Given the description of an element on the screen output the (x, y) to click on. 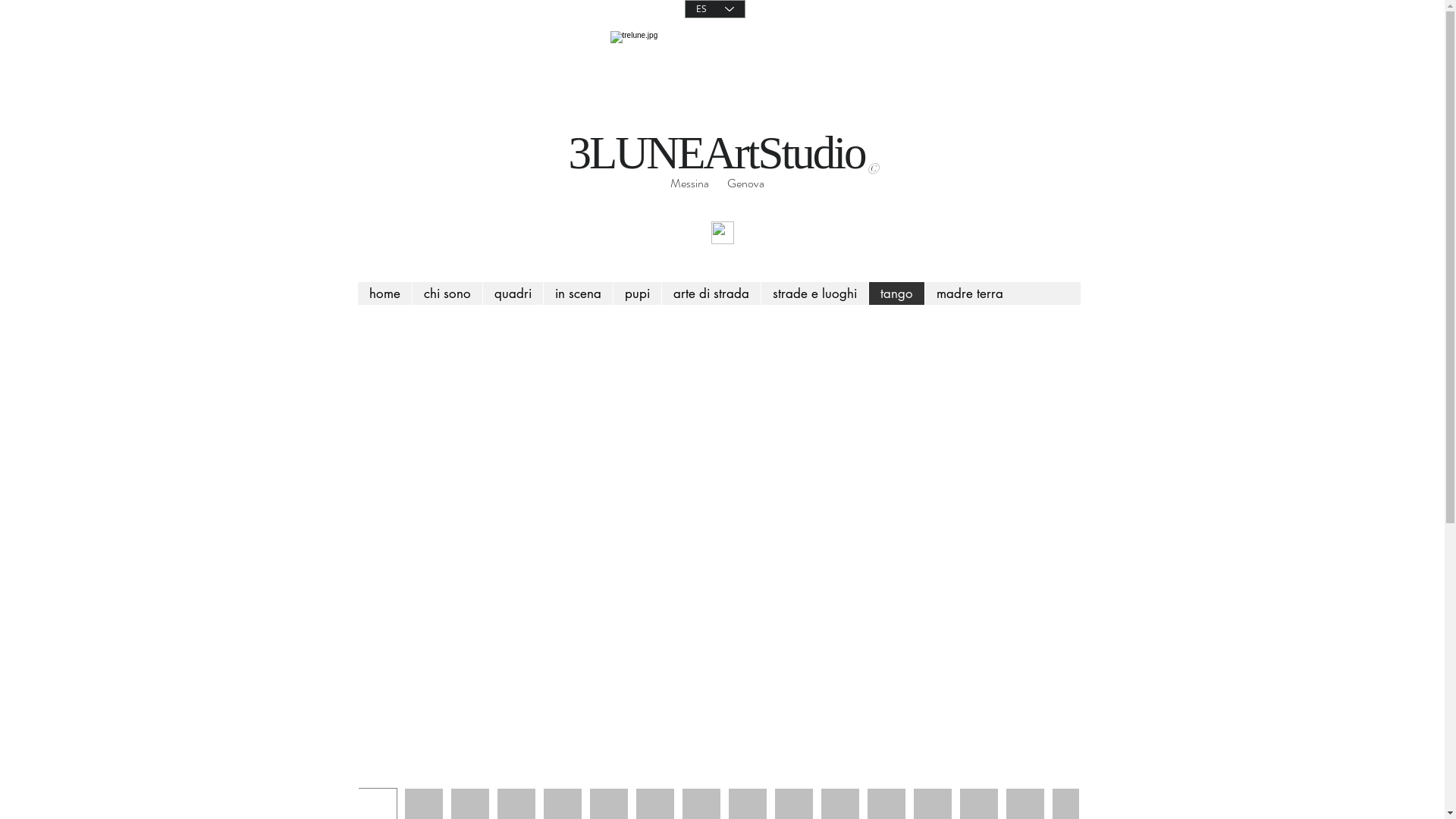
quadri Element type: text (512, 293)
madre terra Element type: text (968, 293)
pupi Element type: text (636, 293)
tango Element type: text (895, 293)
home Element type: text (384, 293)
chi sono Element type: text (446, 293)
in scena Element type: text (577, 293)
strade e luoghi Element type: text (813, 293)
arte di strada Element type: text (710, 293)
